Given the description of an element on the screen output the (x, y) to click on. 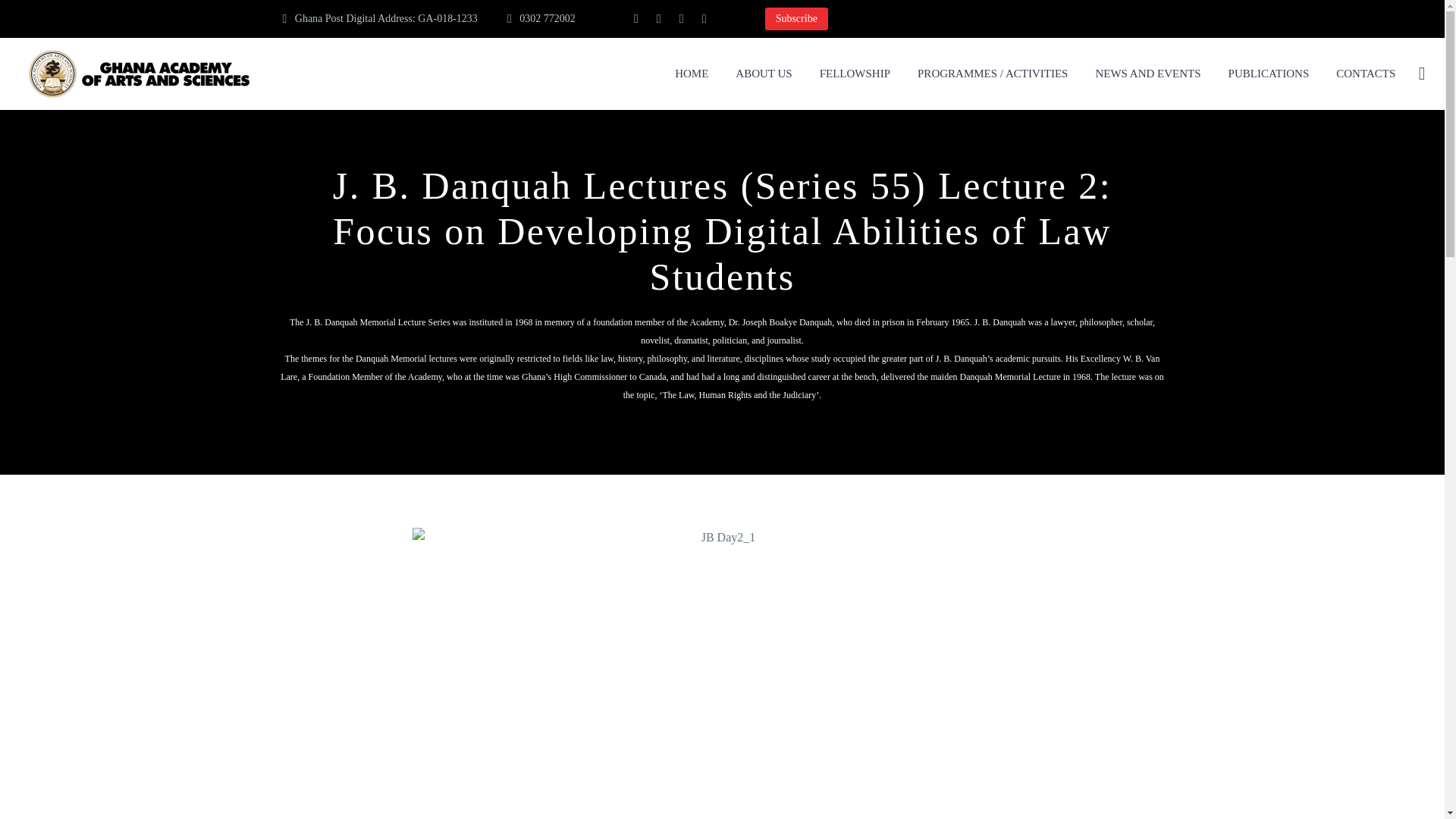
YouTube (681, 19)
ABOUT US (763, 73)
FELLOWSHIP (854, 73)
Facebook (635, 19)
WhatsApp (704, 19)
Subscribe (796, 18)
HOME (691, 73)
0302 772002 (547, 18)
Twitter (658, 19)
